Given the description of an element on the screen output the (x, y) to click on. 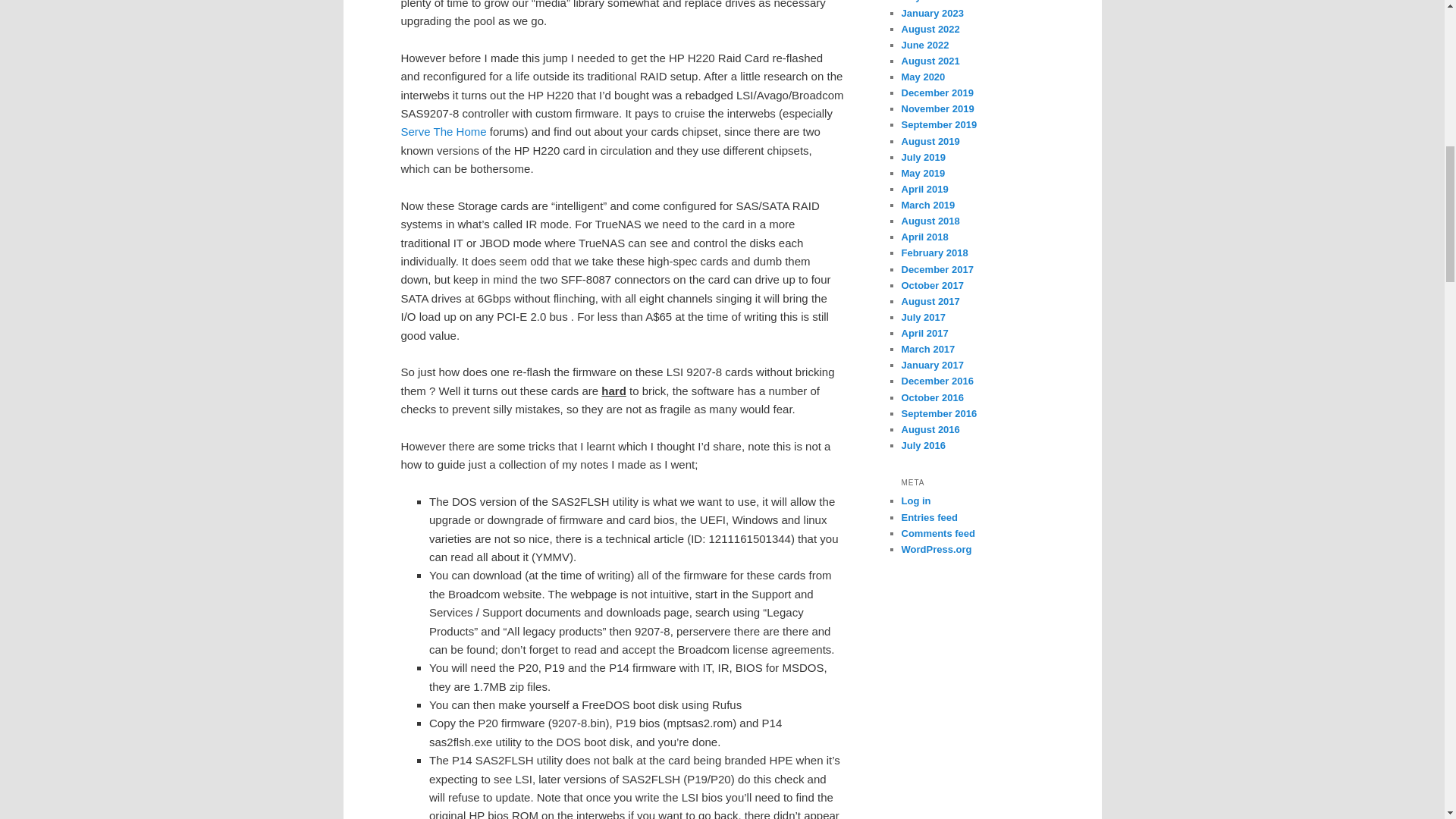
Serve The Home (443, 131)
